Given the description of an element on the screen output the (x, y) to click on. 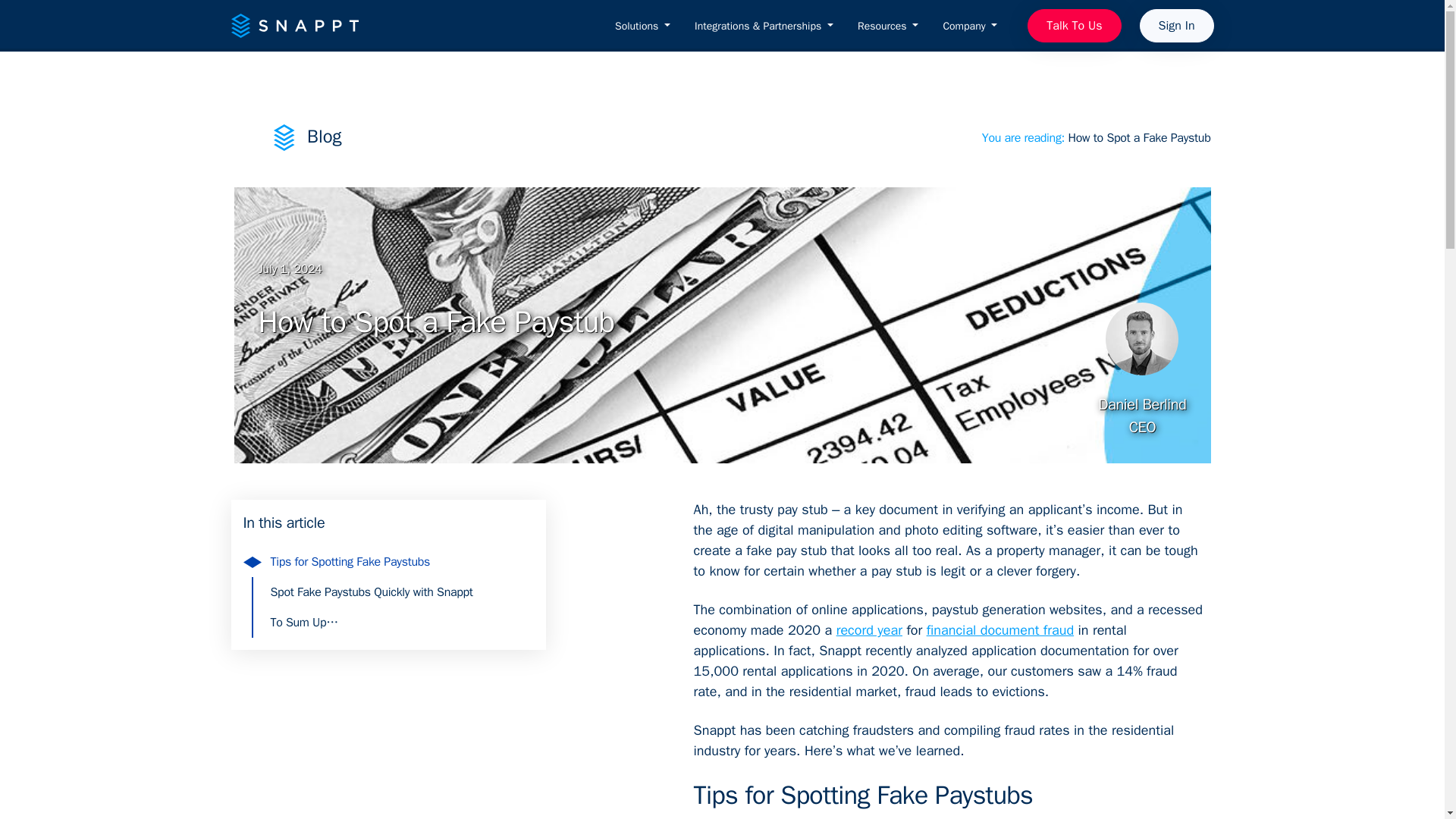
Company (969, 25)
record year (868, 629)
Tips for Spotting Fake Paystubs (401, 562)
Spot Fake Paystubs Quickly with Snappt (401, 592)
Sign In (1177, 25)
financial document fraud (1000, 629)
Solutions (642, 25)
Resources (887, 25)
Talk To Us (1074, 25)
